Given the description of an element on the screen output the (x, y) to click on. 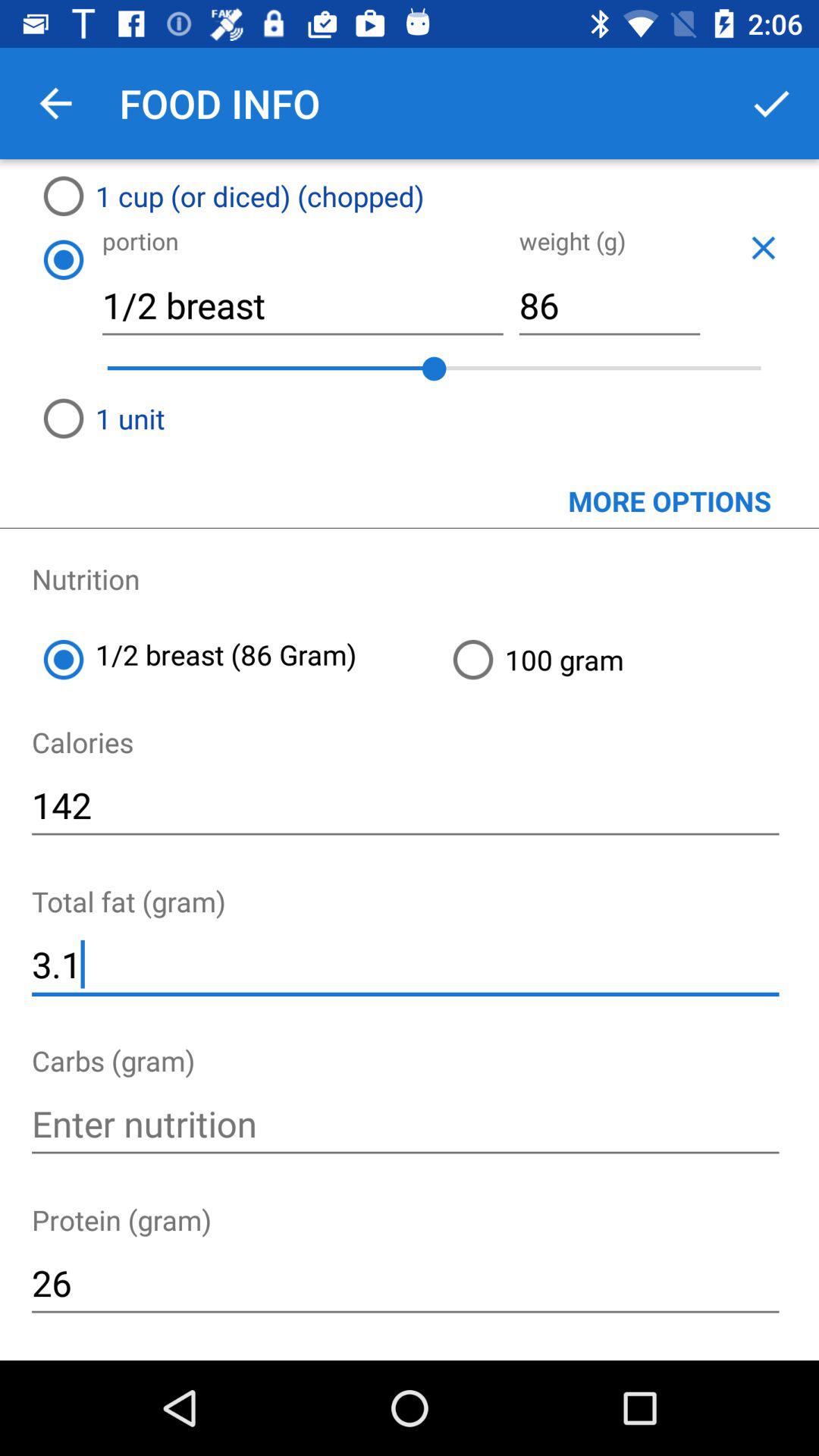
swipe until 142 item (405, 805)
